Given the description of an element on the screen output the (x, y) to click on. 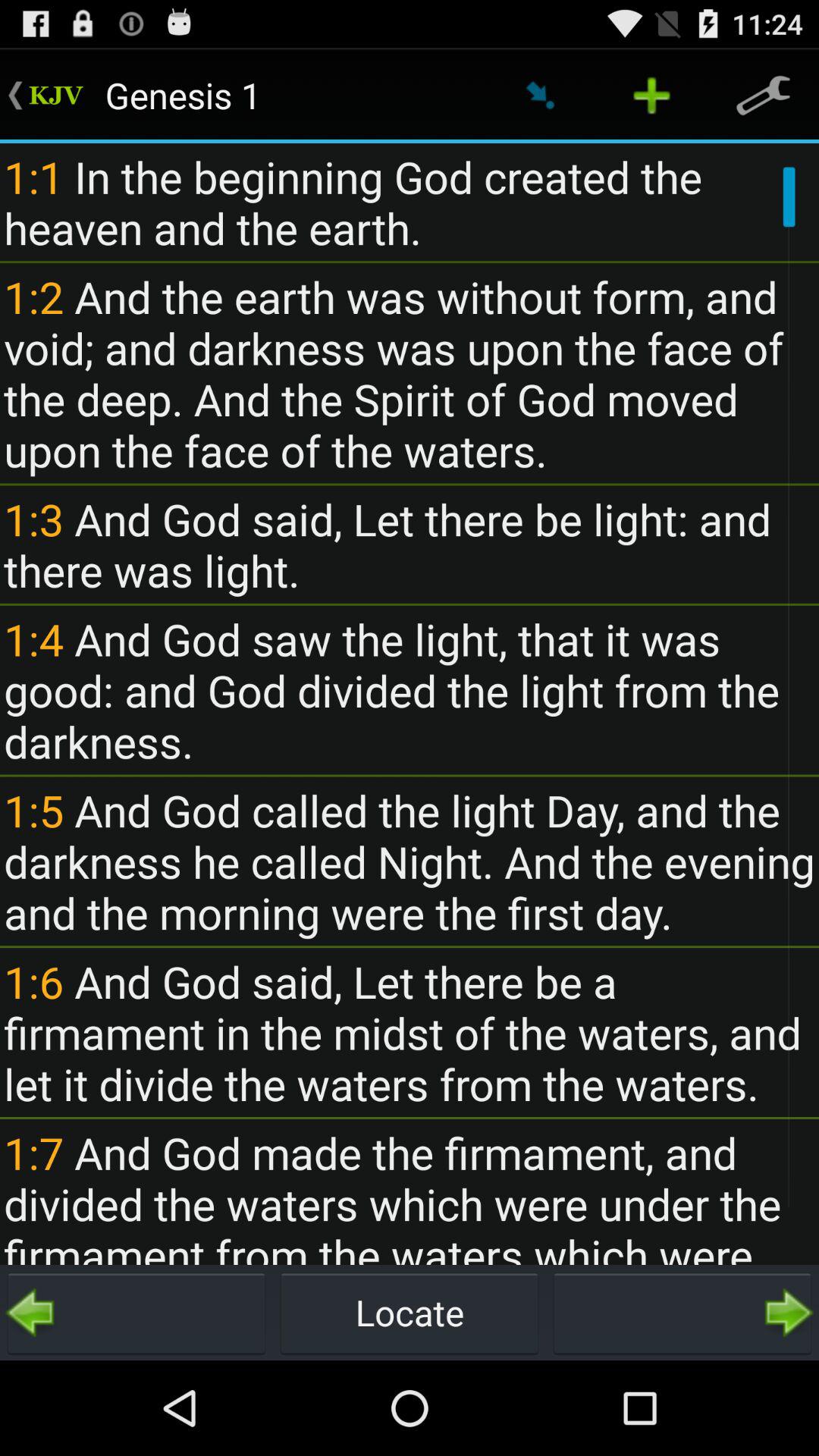
click the item next to the locate item (682, 1312)
